Given the description of an element on the screen output the (x, y) to click on. 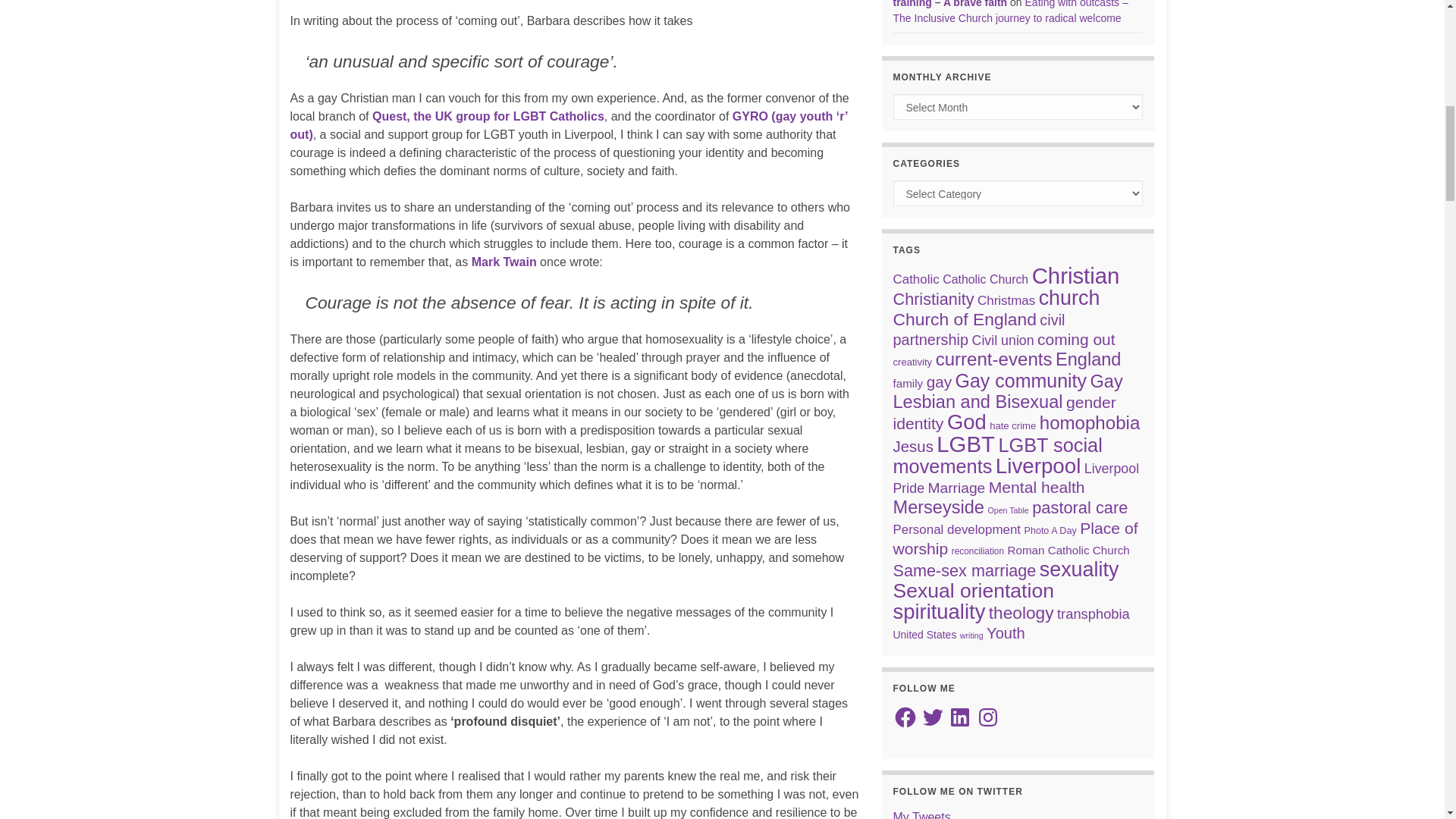
Quest, the UK group for LGBT Catholics (488, 115)
Mark Twain (504, 261)
Quest, the UK group for LGBT Catholics (488, 115)
